Given the description of an element on the screen output the (x, y) to click on. 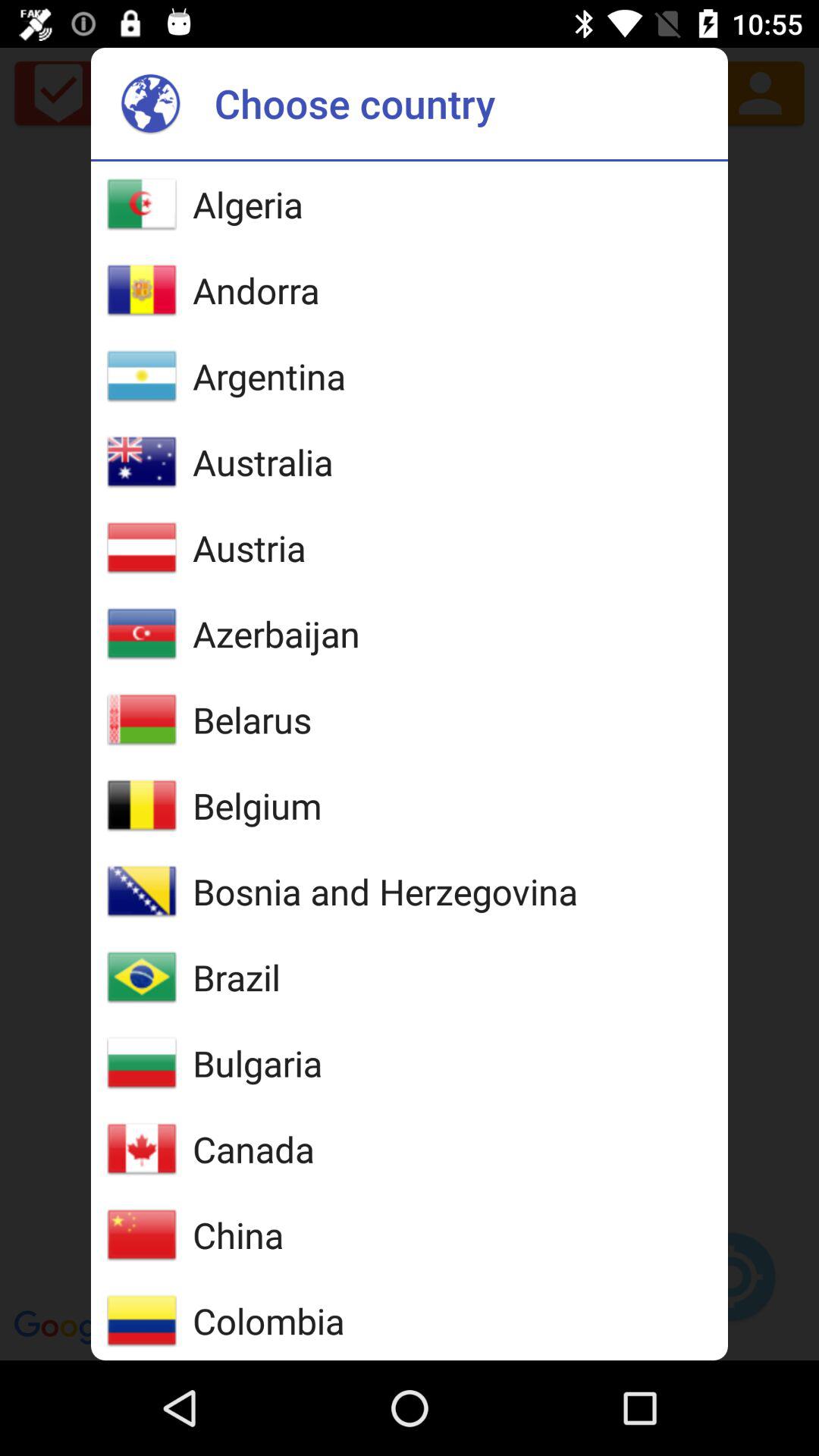
open china item (237, 1234)
